Given the description of an element on the screen output the (x, y) to click on. 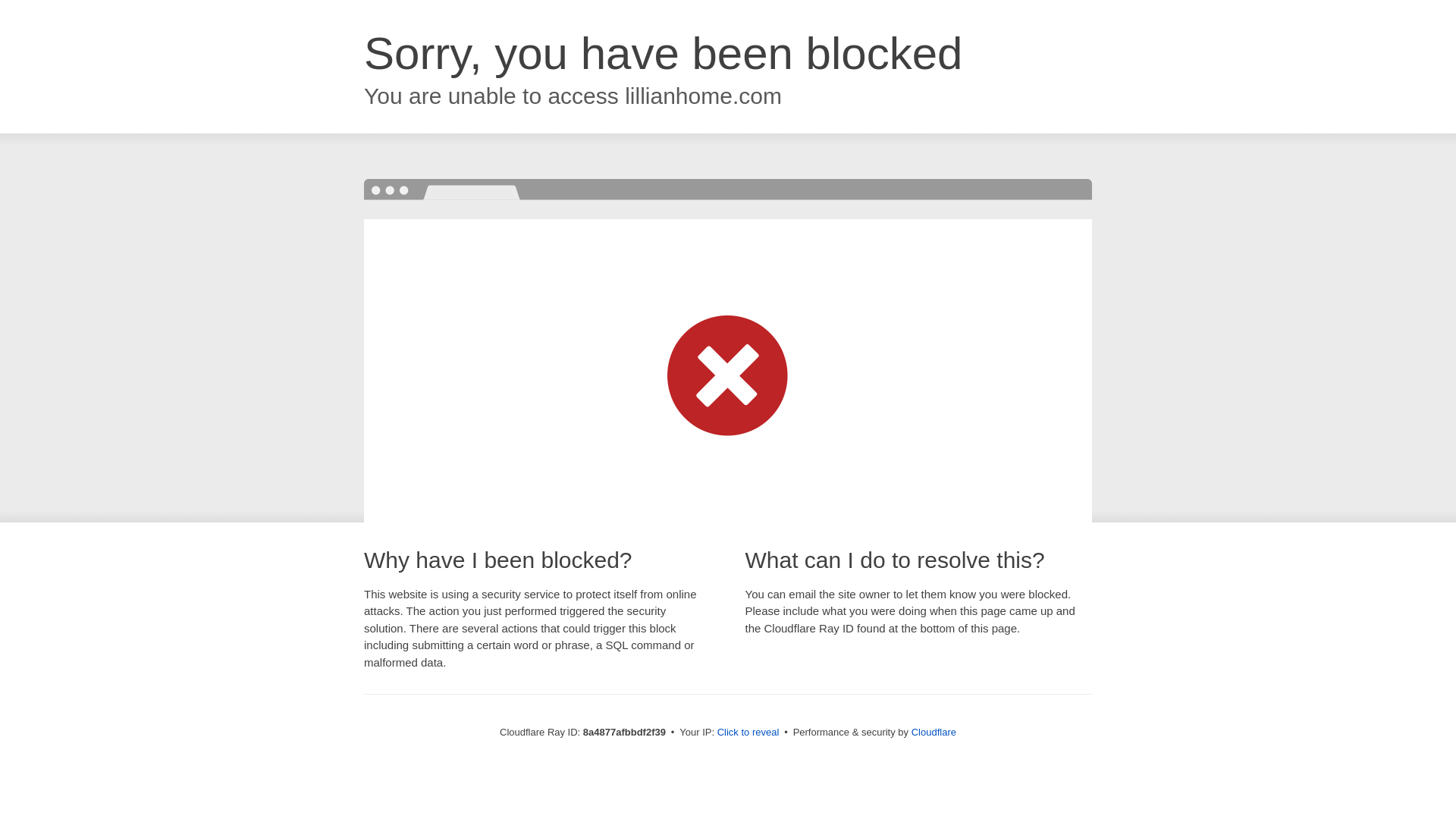
Cloudflare (933, 731)
Click to reveal (747, 732)
